Given the description of an element on the screen output the (x, y) to click on. 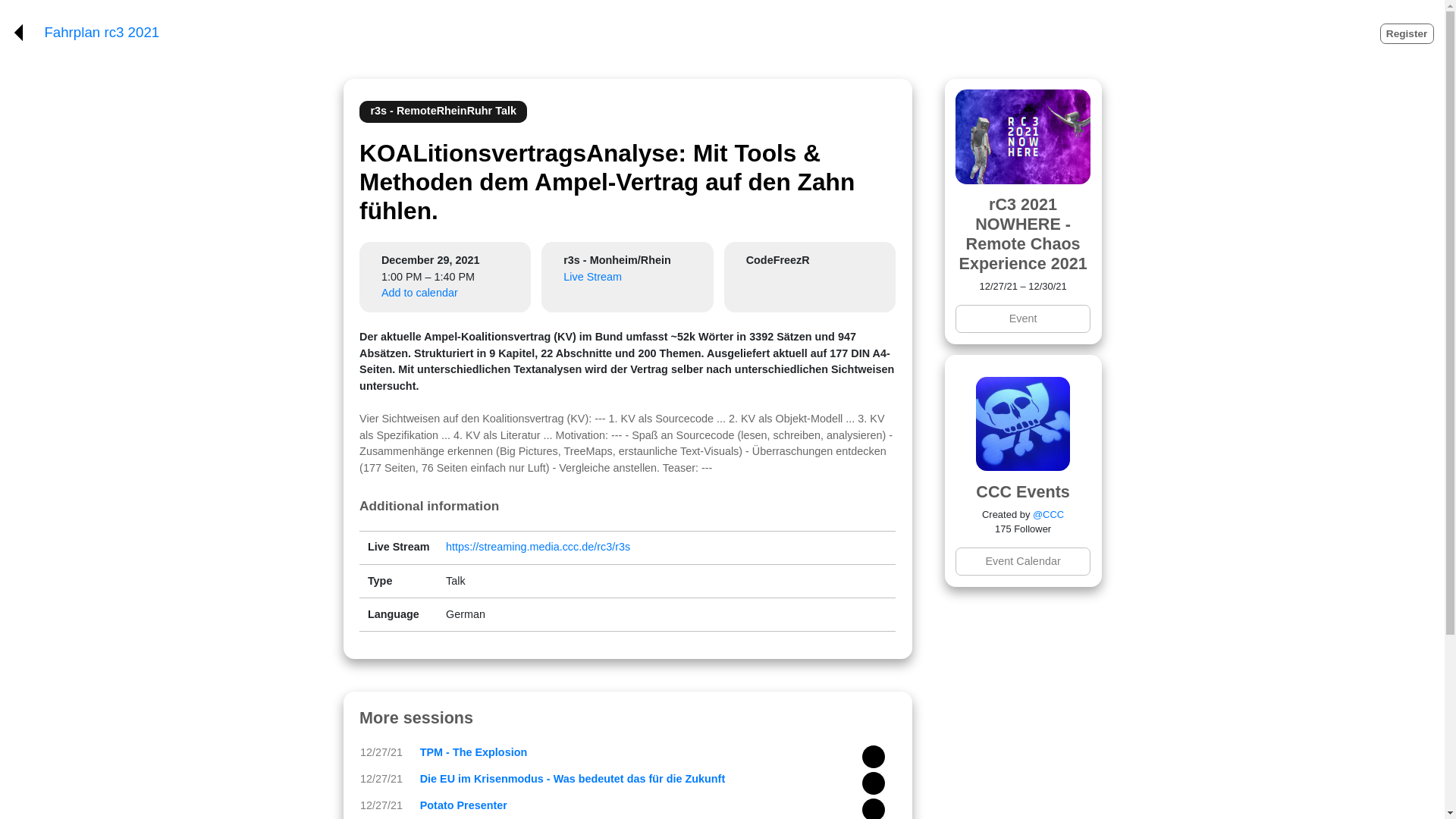
Potato Presenter (463, 805)
Fahrplan rc3 2021 (100, 32)
Live Stream (592, 276)
Event Calendar (1022, 561)
Register (1407, 33)
Add to calendar (419, 292)
TPM - The Explosion (473, 752)
Event (1022, 318)
